Given the description of an element on the screen output the (x, y) to click on. 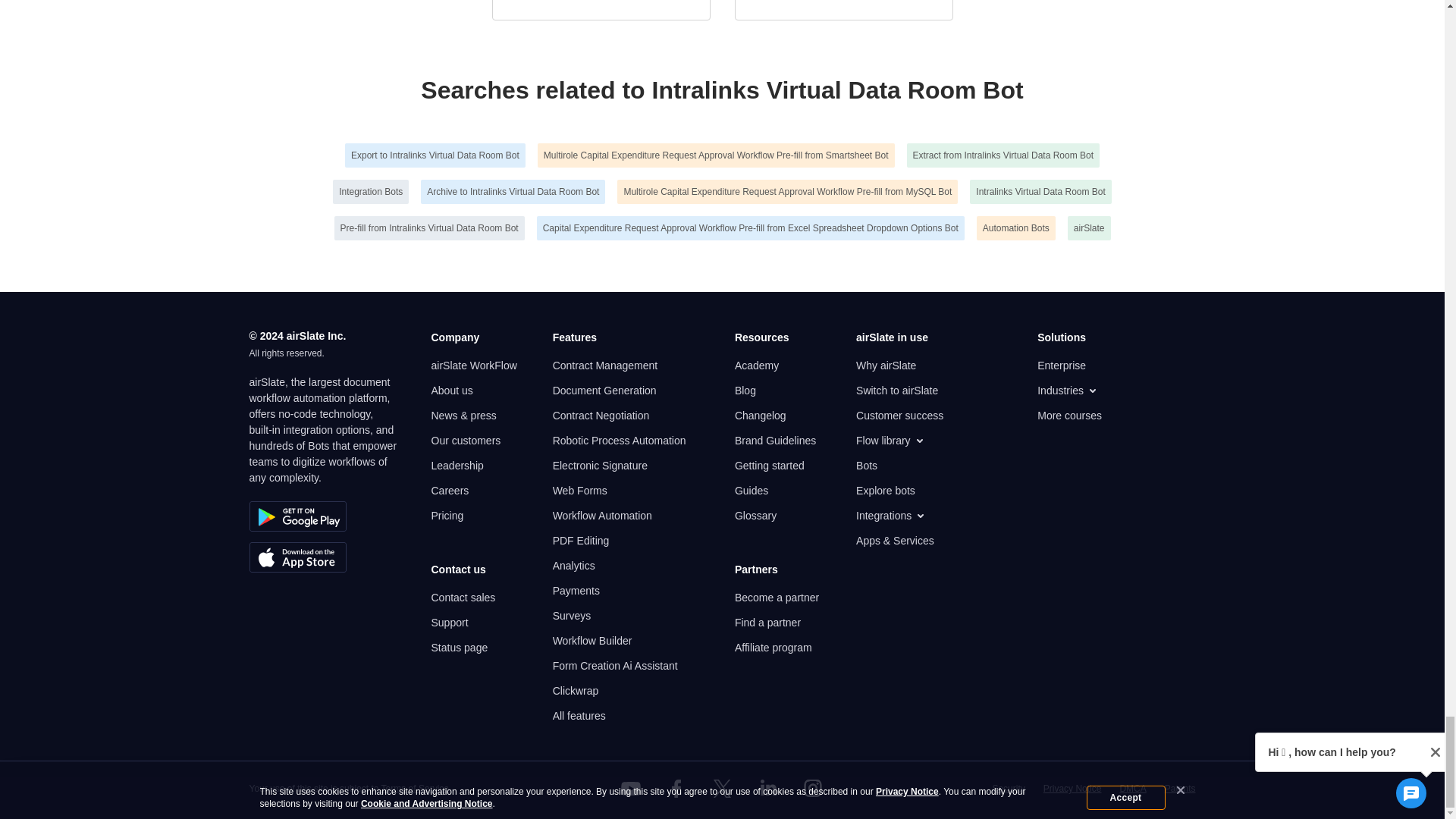
LinkedIn (767, 788)
Instagram (812, 788)
Twitter (721, 788)
YouTube (630, 788)
Facebook (676, 788)
